Given the description of an element on the screen output the (x, y) to click on. 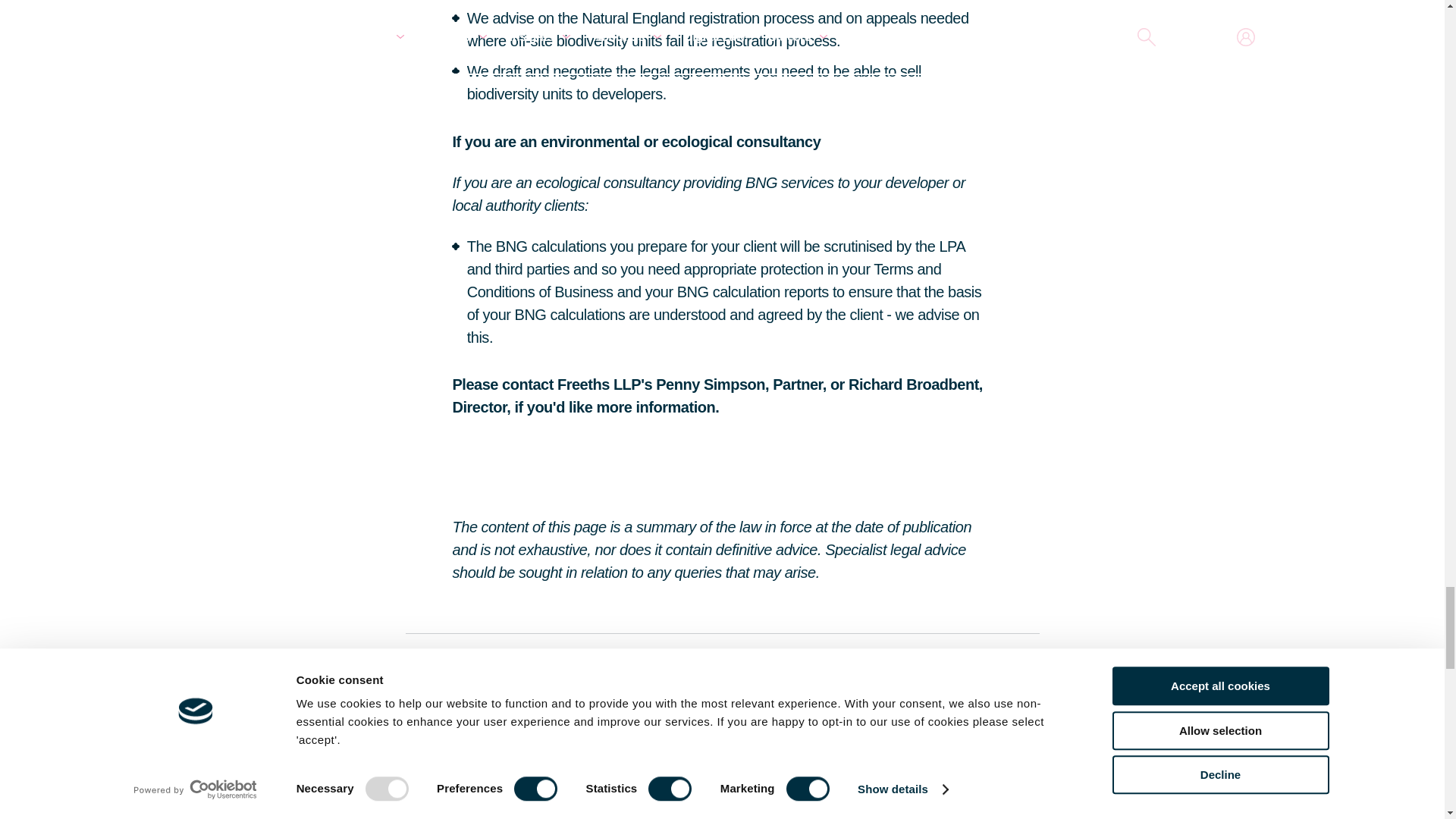
Share (875, 805)
Share via Facebook (911, 805)
Share via LinkedIn (984, 805)
Share via X (948, 805)
Share via email (1021, 805)
